Given the description of an element on the screen output the (x, y) to click on. 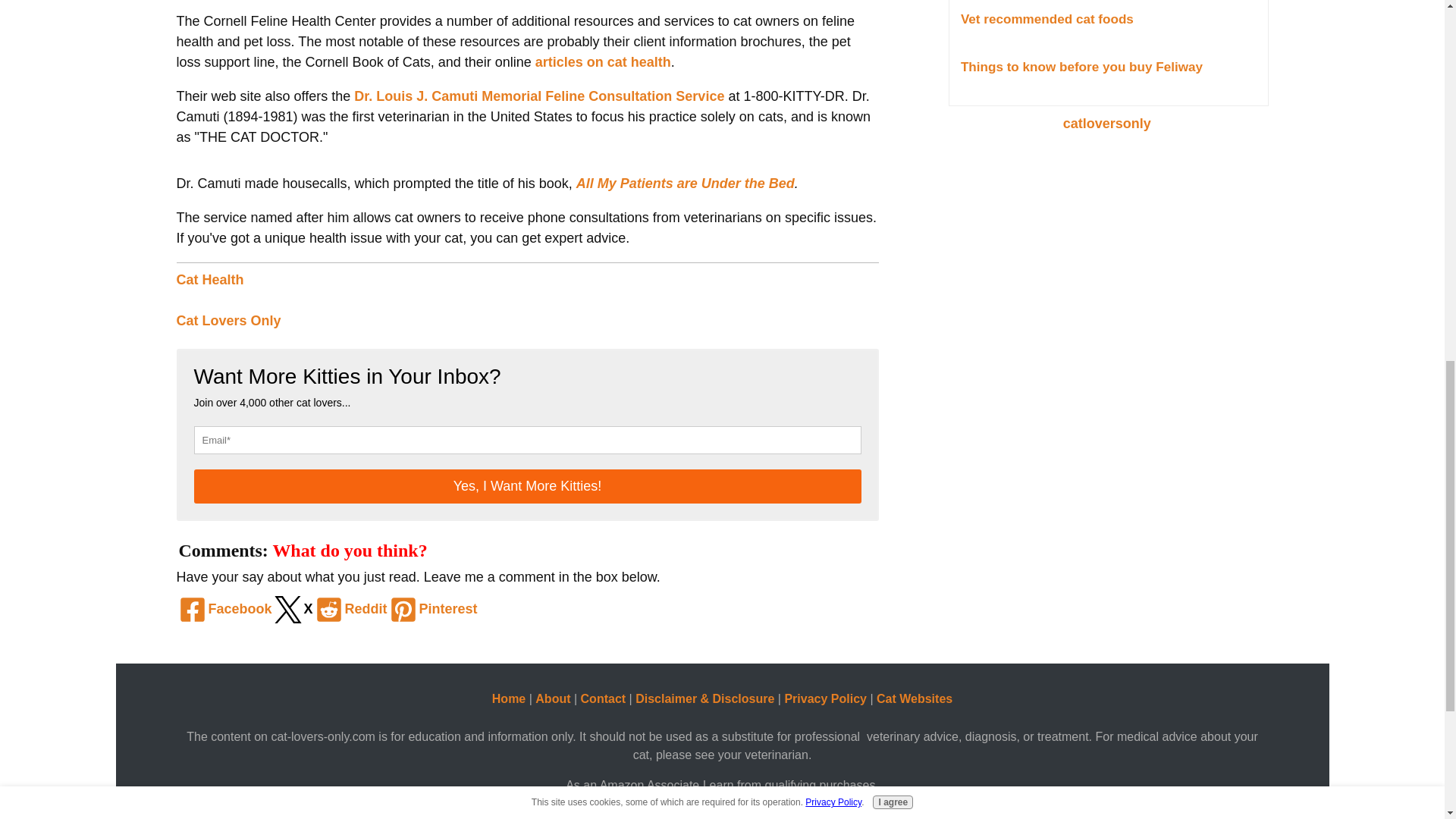
Cat Lovers Only (228, 320)
Dr. Louis J. Camuti Memorial Feline Consultation Service (538, 96)
articles on cat health (603, 61)
All My Patients are Under the Bed (685, 183)
Facebook (223, 609)
X (292, 609)
Cat Health (209, 279)
Yes, I Want More Kitties! (527, 486)
